Given the description of an element on the screen output the (x, y) to click on. 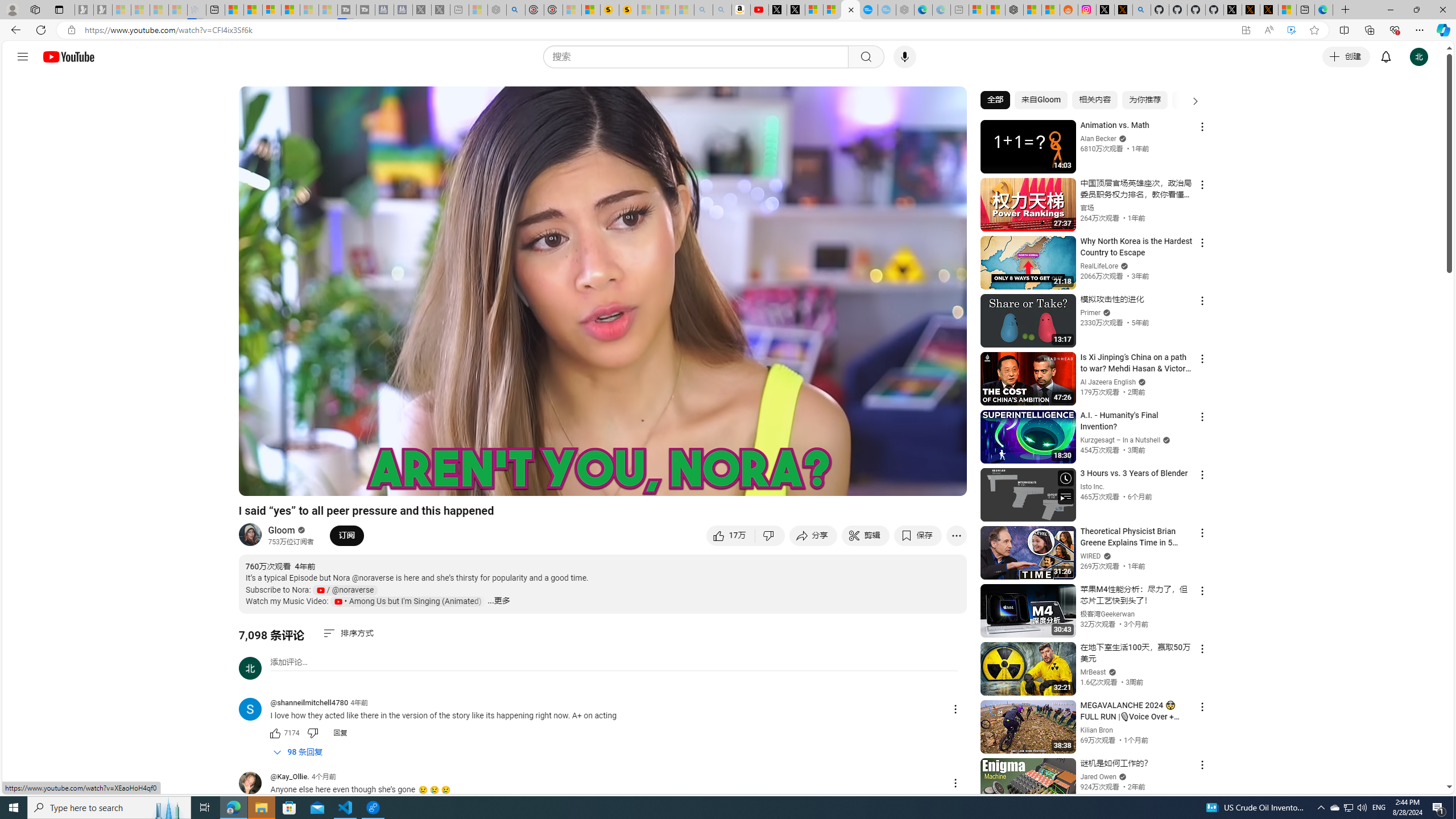
Wildlife - MSN - Sleeping (478, 9)
New Tab (1346, 9)
Nordace - Duffels (1013, 9)
Settings and more (Alt+F) (1419, 29)
Streaming Coverage | T3 - Sleeping (347, 9)
Profile / X (1232, 9)
New tab - Sleeping (960, 9)
